Given the description of an element on the screen output the (x, y) to click on. 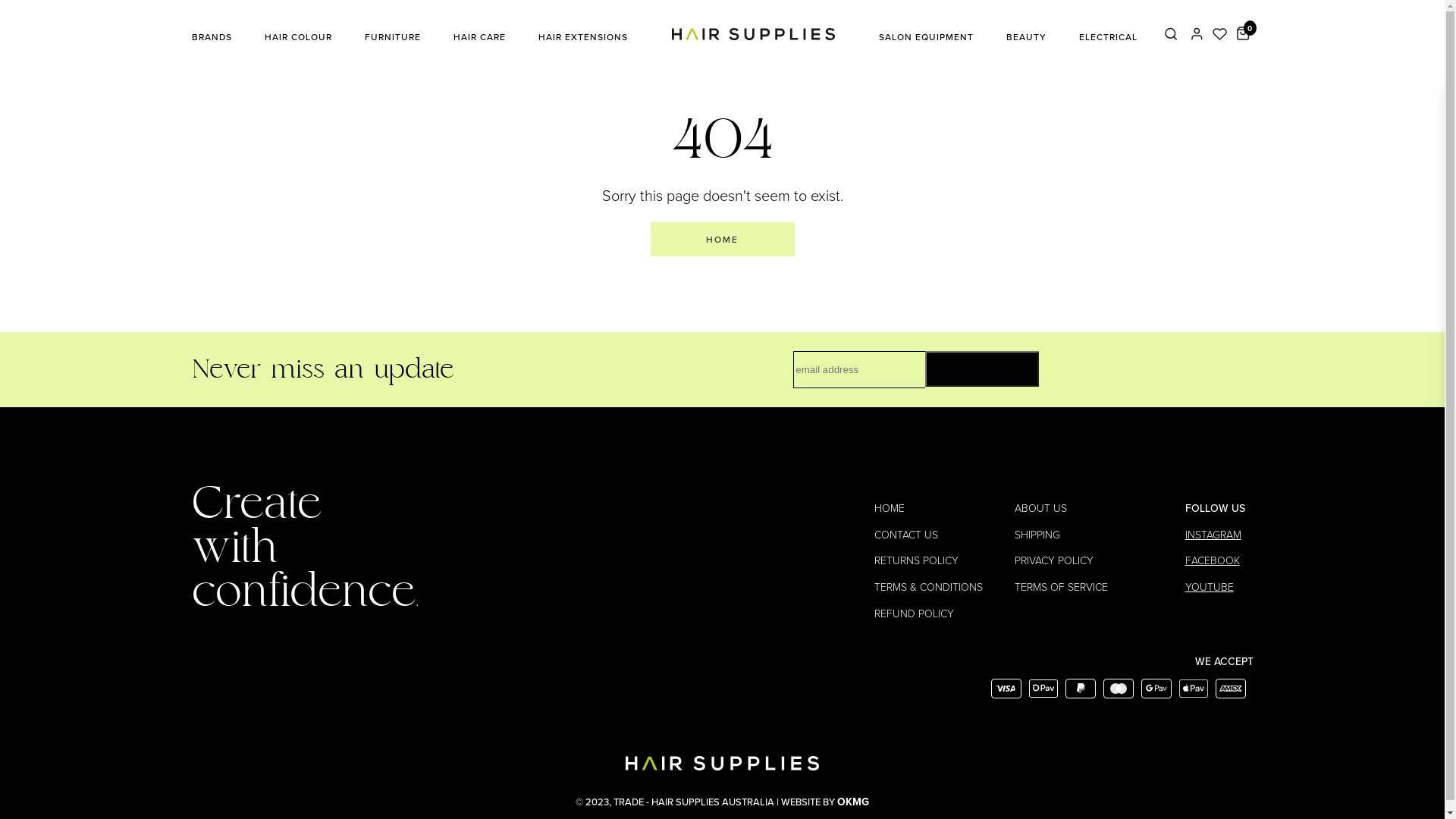
FACEBOOK Element type: text (1211, 560)
SHIPPING Element type: text (1037, 534)
HAIR CARE Element type: text (479, 36)
TERMS & CONDITIONS Element type: text (927, 587)
ELECTRICAL Element type: text (1107, 36)
JOIN Element type: text (981, 368)
ABOUT US Element type: text (1040, 508)
PRIVACY POLICY Element type: text (1053, 560)
RETURNS POLICY Element type: text (915, 560)
HAIR COLOUR Element type: text (297, 36)
HOME Element type: text (888, 508)
TERMS OF SERVICE Element type: text (1060, 587)
INSTAGRAM Element type: text (1212, 534)
0 Element type: text (1242, 36)
BEAUTY Element type: text (1025, 36)
REFUND POLICY Element type: text (913, 613)
HAIR EXTENSIONS Element type: text (582, 36)
SALON EQUIPMENT Element type: text (925, 36)
HOME Element type: text (722, 239)
YOUTUBE Element type: text (1208, 587)
OKMG Element type: text (853, 801)
BRANDS Element type: text (211, 36)
CONTACT US Element type: text (905, 534)
FURNITURE Element type: text (392, 36)
